Given the description of an element on the screen output the (x, y) to click on. 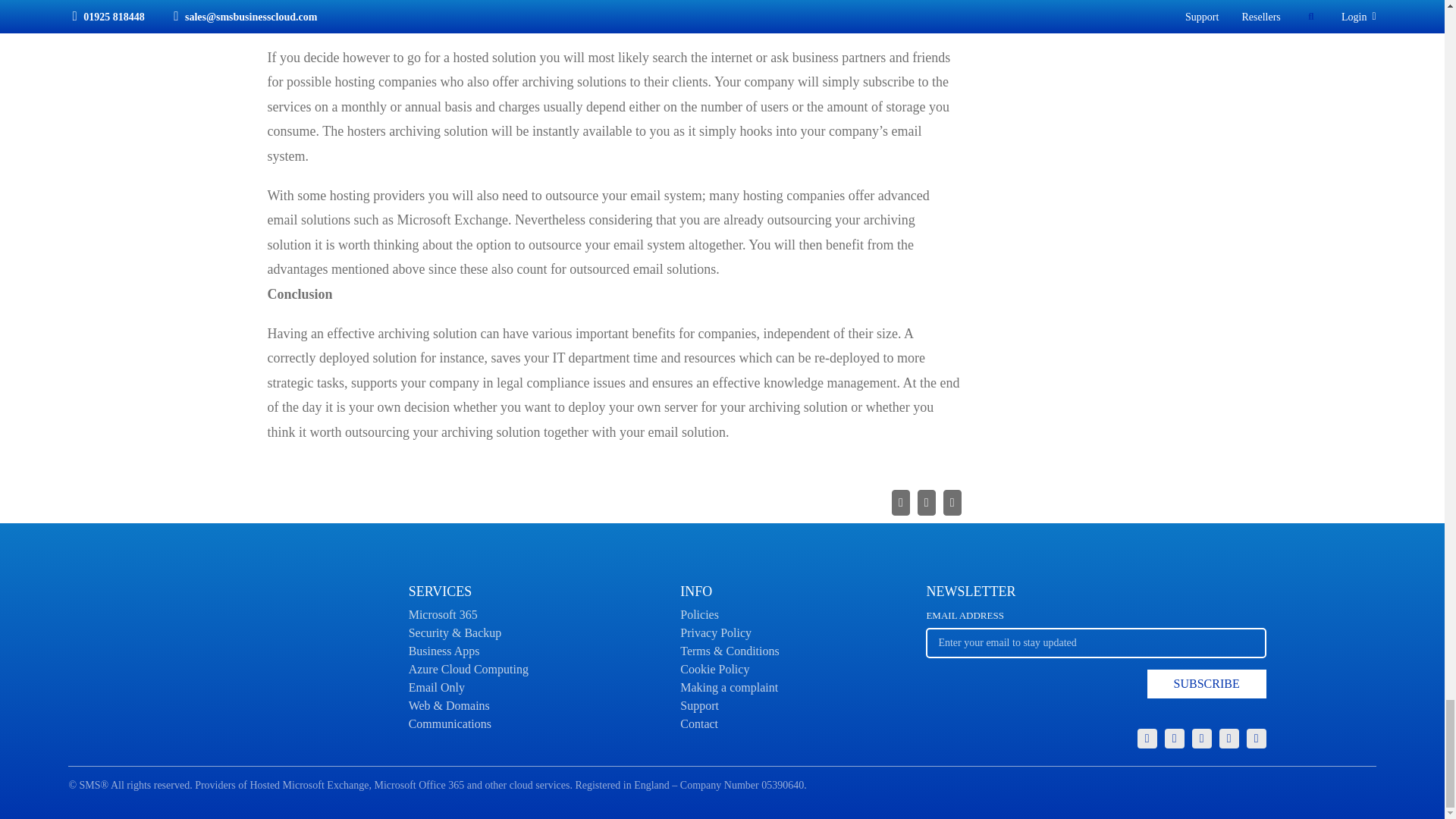
LinkedIn (1229, 738)
Facebook (1201, 738)
YouTube (1256, 738)
Group-2434 - SMS (1095, 659)
X (143, 631)
Rss (1174, 738)
